Given the description of an element on the screen output the (x, y) to click on. 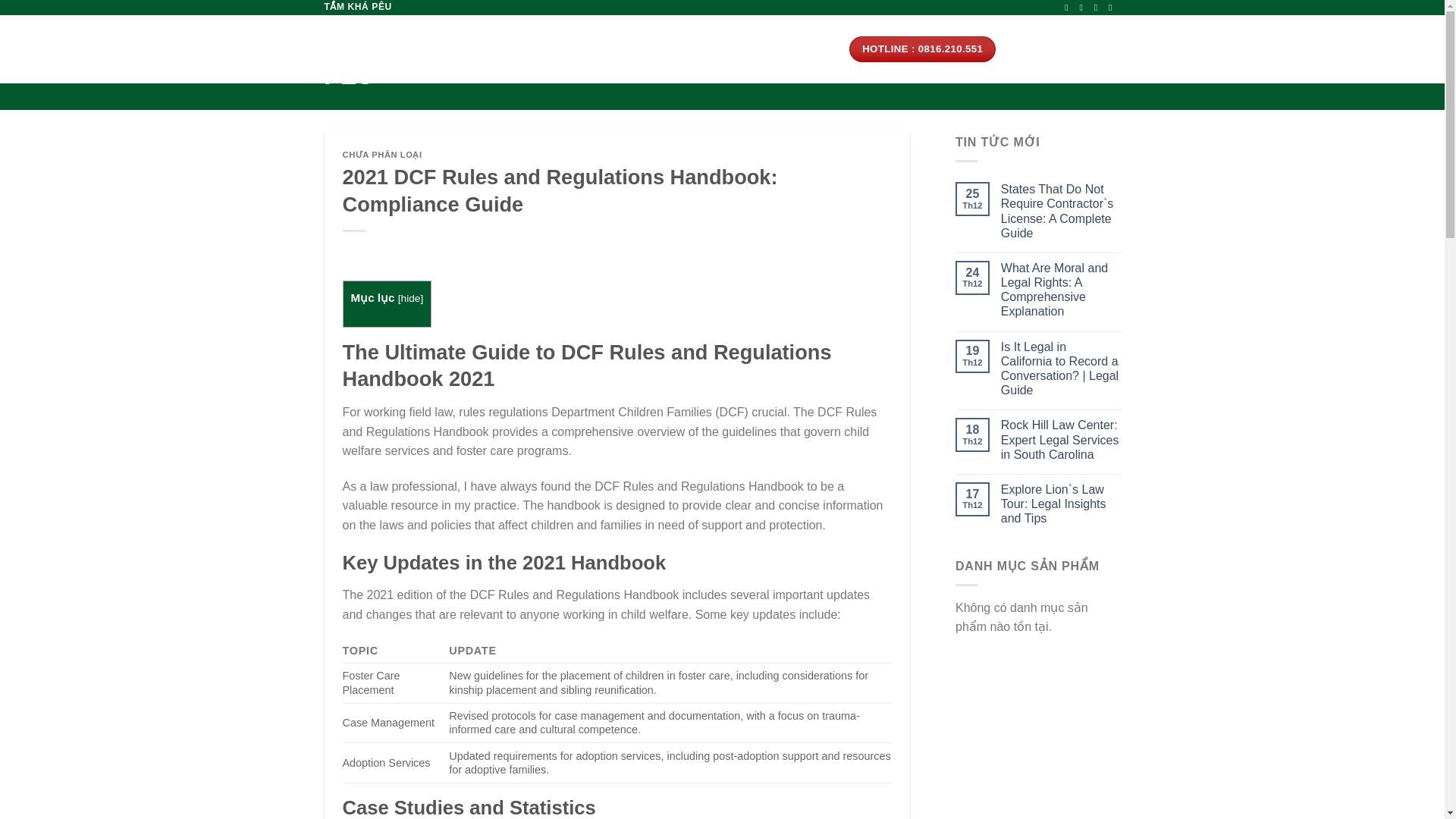
What Are Moral and Legal Rights: A Comprehensive Explanation (1061, 290)
HOTLINE : 0816.210.551 (921, 49)
hide (410, 297)
